Given the description of an element on the screen output the (x, y) to click on. 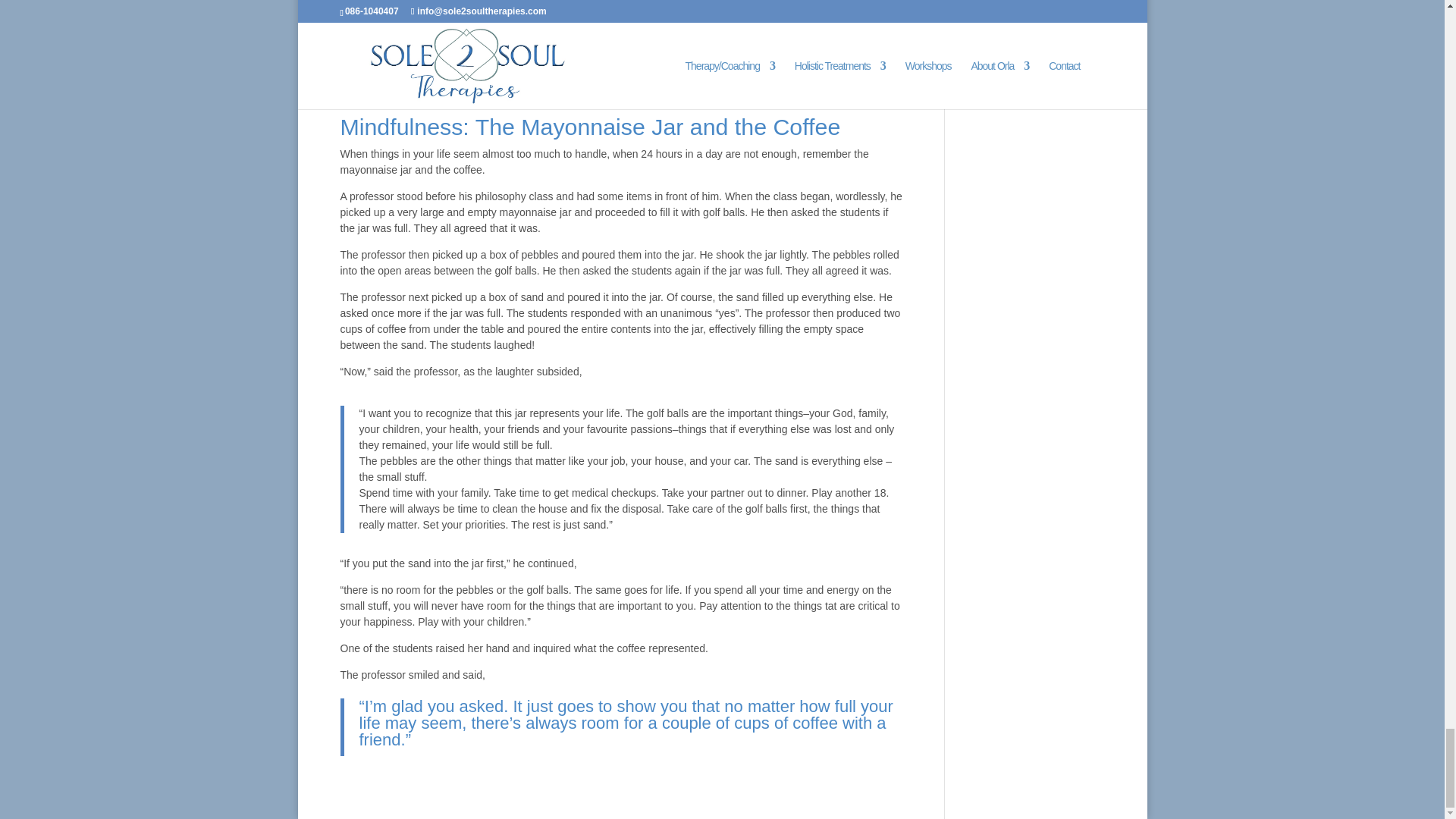
Mindfulness (423, 91)
The Mayonnaise Jar and the Coffee (521, 63)
